Given the description of an element on the screen output the (x, y) to click on. 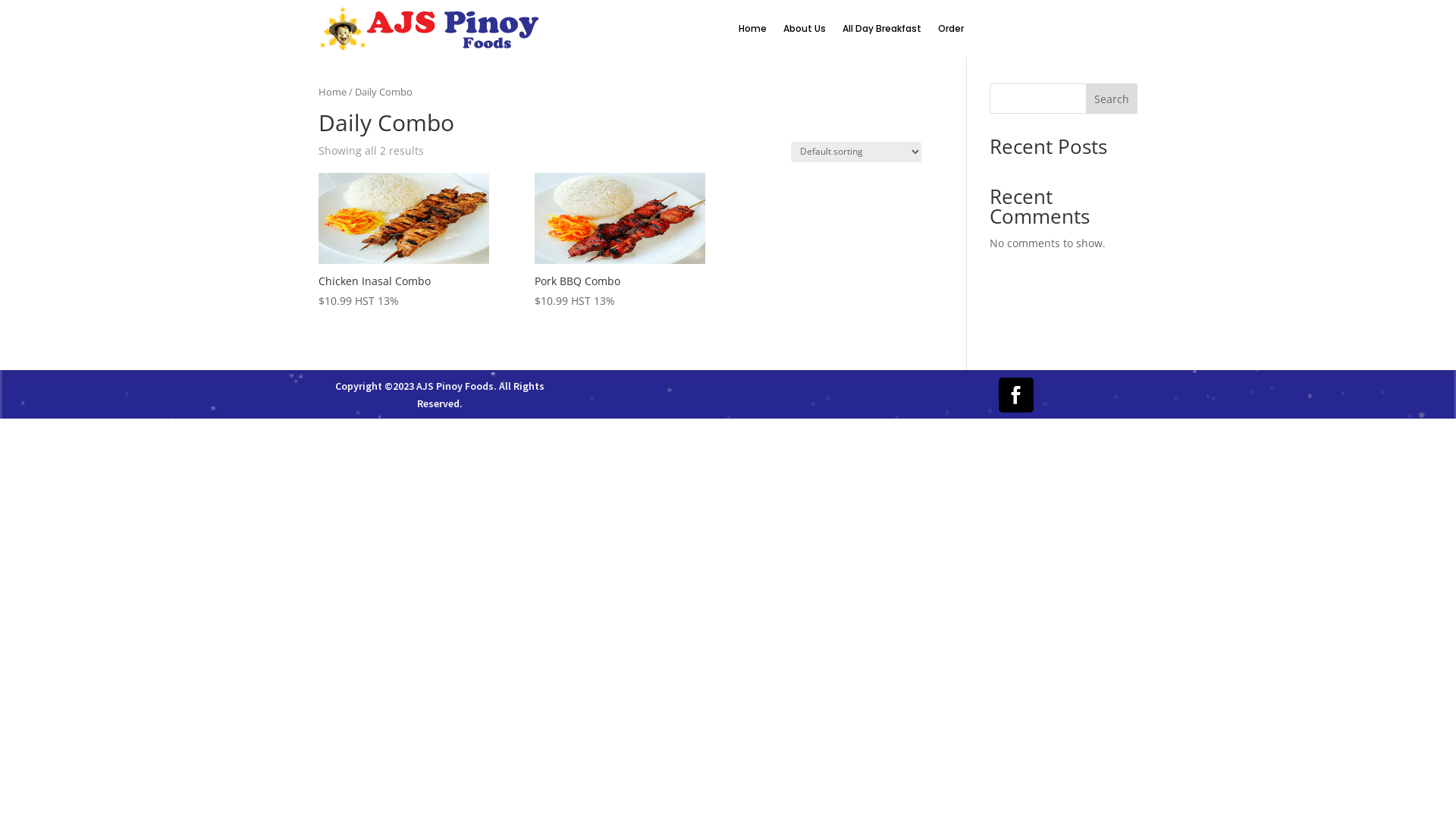
Home Element type: text (752, 28)
Search Element type: text (1111, 98)
Chicken Inasal Combo
$10.99 HST 13% Element type: text (403, 241)
Home Element type: text (332, 91)
About Us Element type: text (803, 28)
Pork BBQ Combo
$10.99 HST 13% Element type: text (619, 241)
Follow on Facebook Element type: hover (1015, 394)
Order Element type: text (950, 28)
All Day Breakfast Element type: text (880, 28)
